Given the description of an element on the screen output the (x, y) to click on. 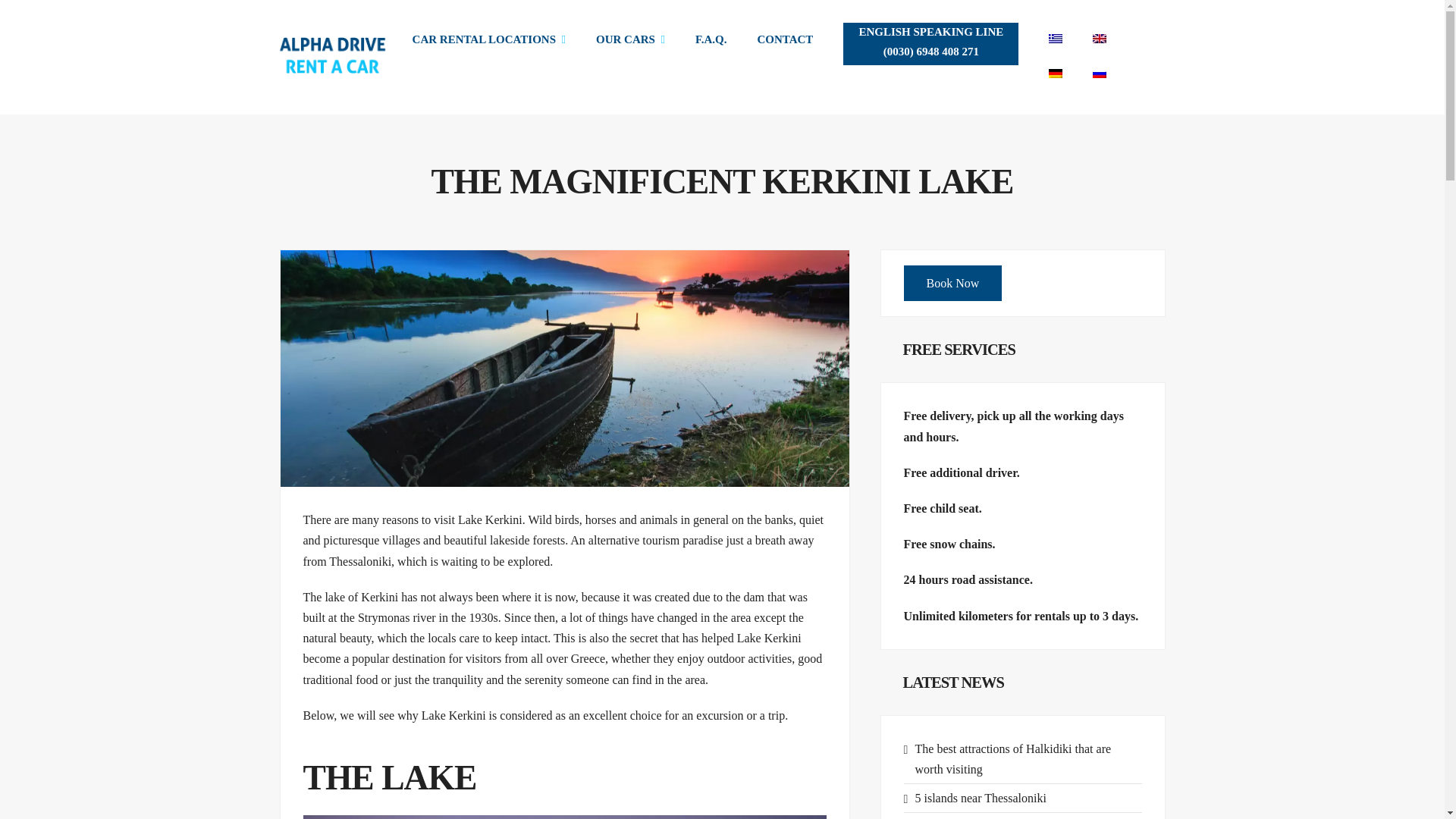
F.A.Q. (710, 39)
CAR RENTAL LOCATIONS (489, 39)
CONTACT (784, 39)
OUR CARS (630, 39)
